Given the description of an element on the screen output the (x, y) to click on. 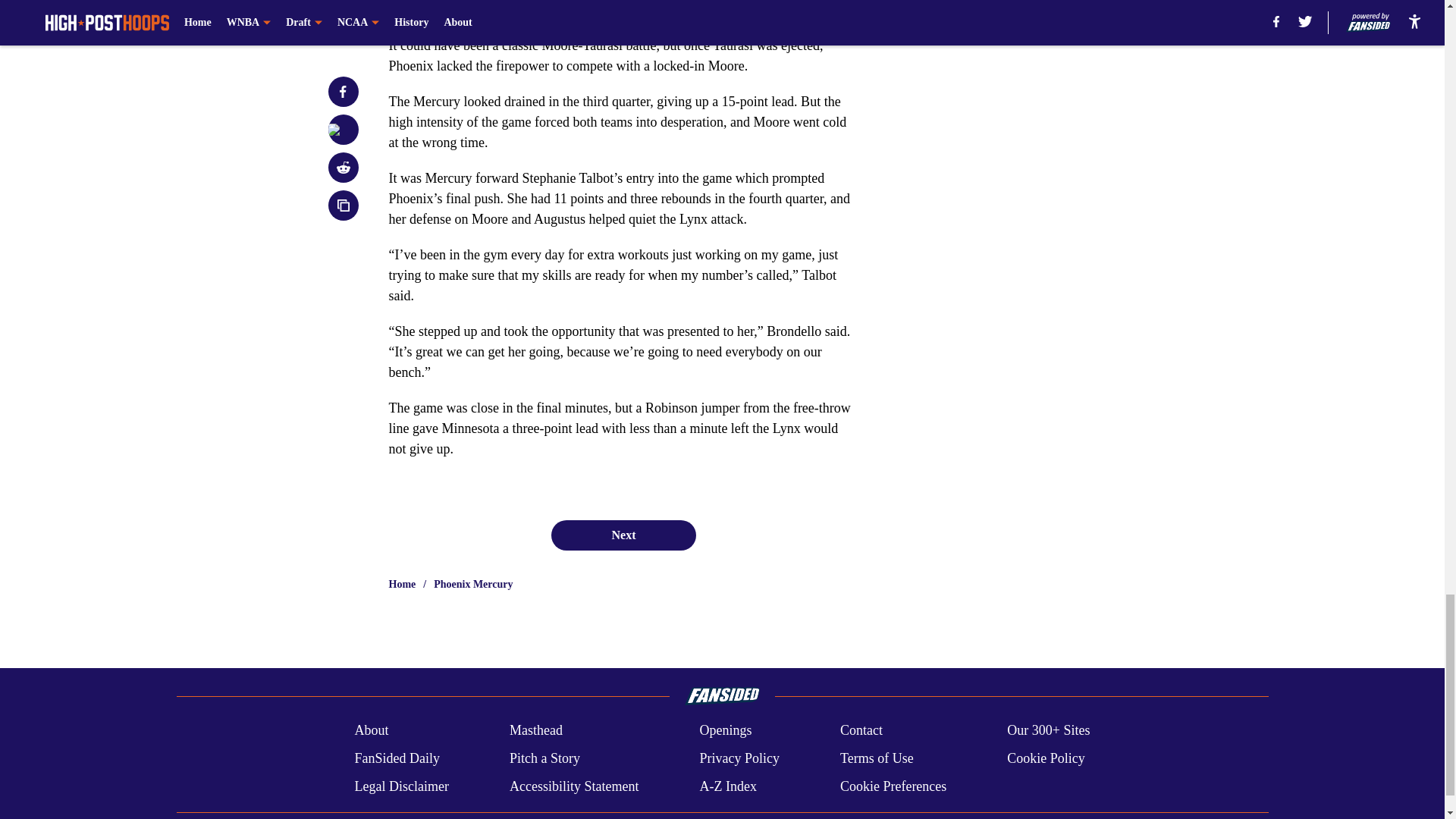
Home (401, 584)
Phoenix Mercury (472, 584)
Next (622, 535)
About (370, 730)
